Given the description of an element on the screen output the (x, y) to click on. 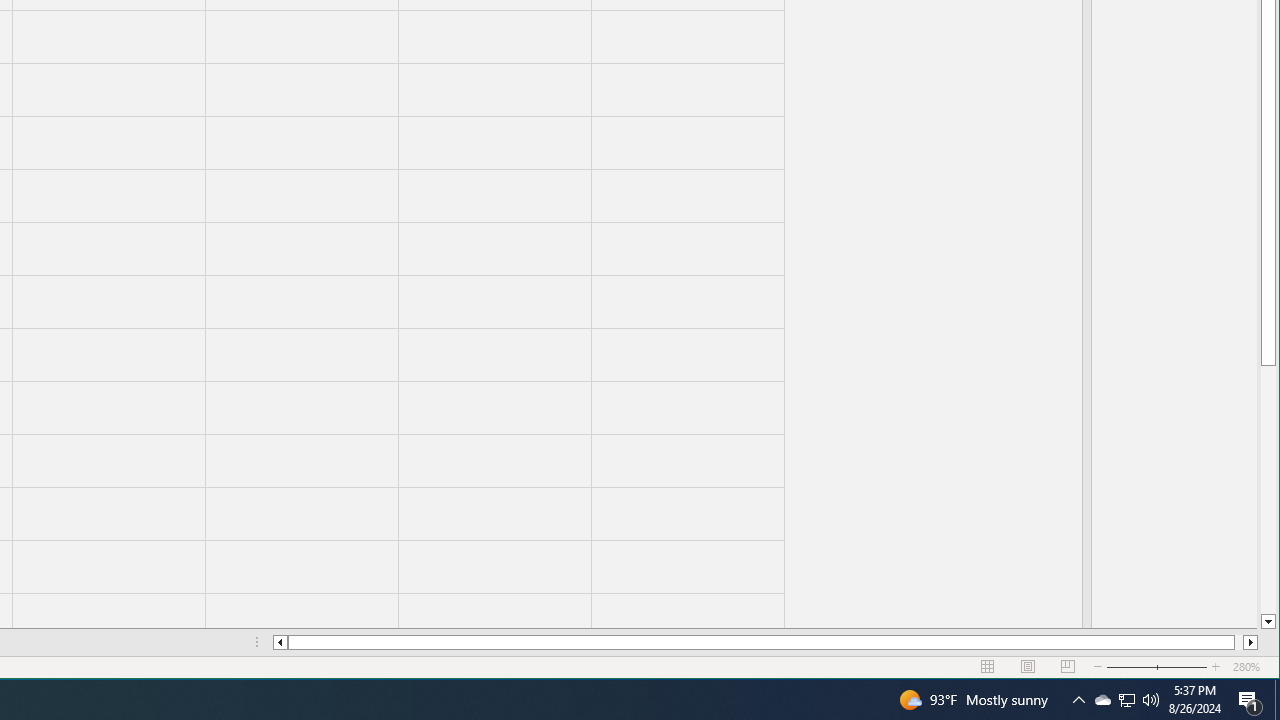
Action Center, 1 new notification (1250, 699)
Notification Chevron (1126, 699)
User Promoted Notification Area (1078, 699)
Show desktop (1126, 699)
Q2790: 100% (1277, 699)
